Given the description of an element on the screen output the (x, y) to click on. 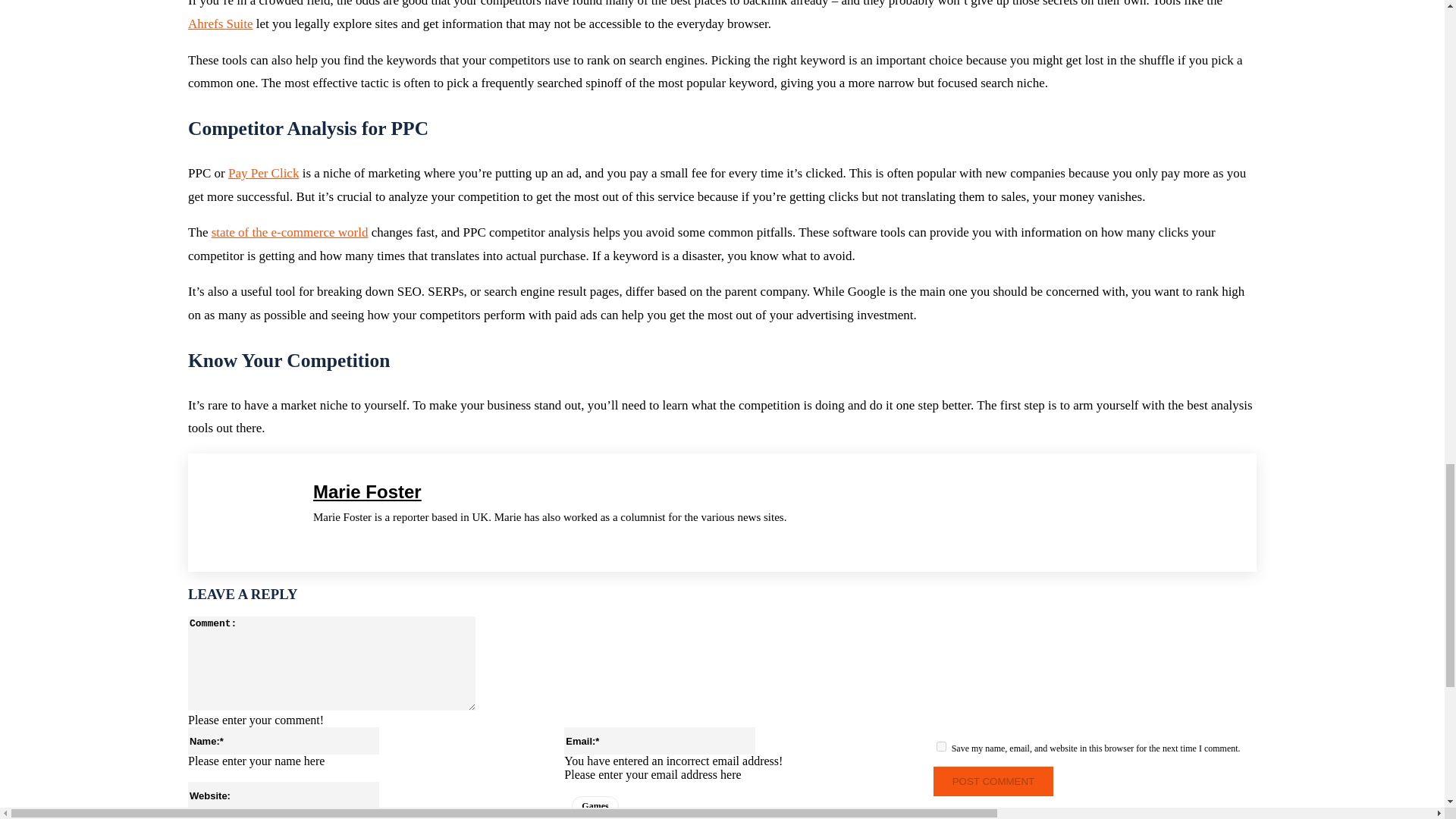
Post Comment (993, 781)
Pay Per Click (263, 173)
Ahrefs Suite (219, 23)
yes (941, 746)
